Given the description of an element on the screen output the (x, y) to click on. 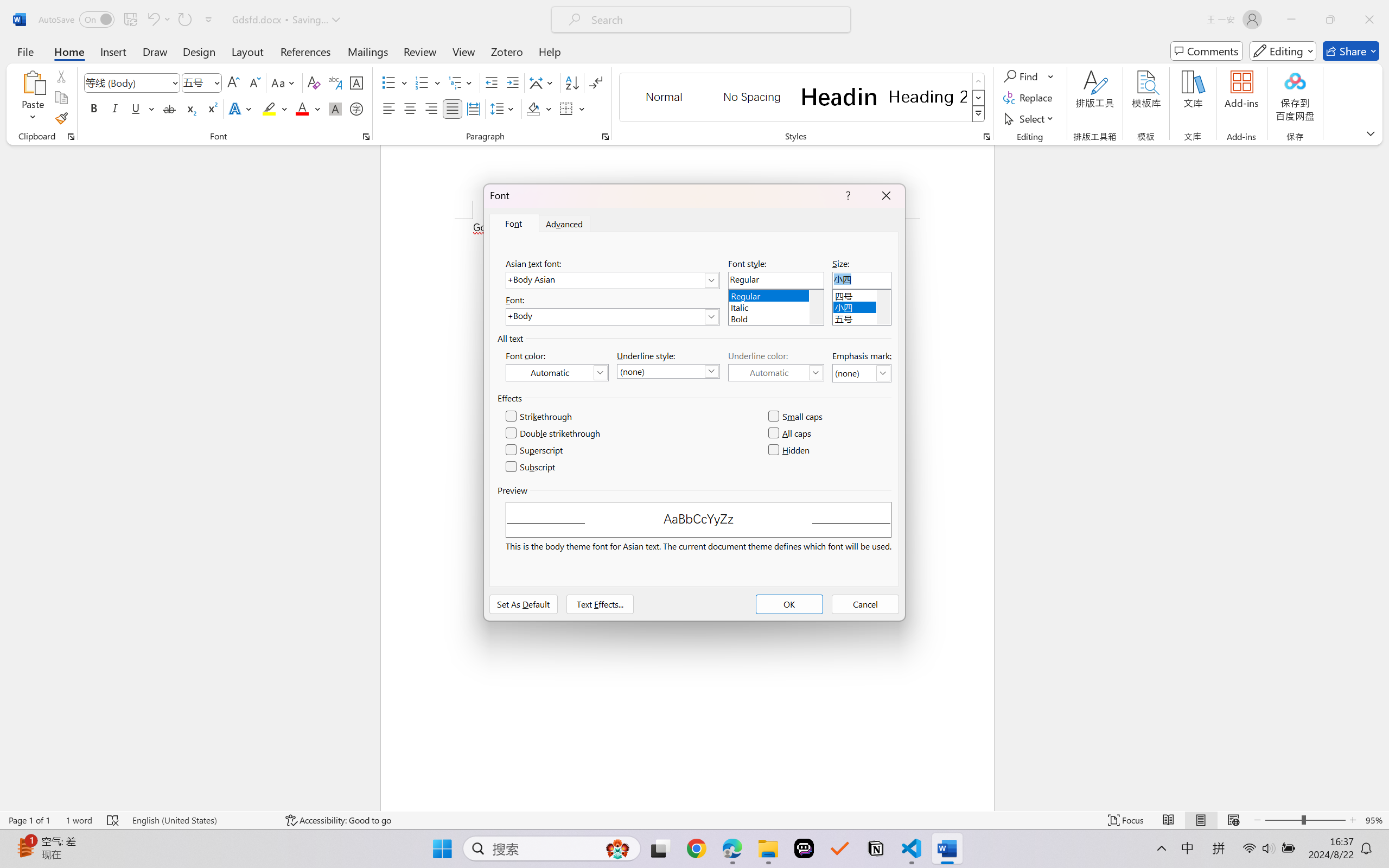
Zoom 95% (1374, 819)
Google Chrome (696, 848)
AutomationID: QuickStylesGallery (802, 97)
Styles (978, 113)
Office Clipboard... (70, 136)
Show/Hide Editing Marks (595, 82)
Poe (804, 848)
Double strikethrough (553, 433)
